Given the description of an element on the screen output the (x, y) to click on. 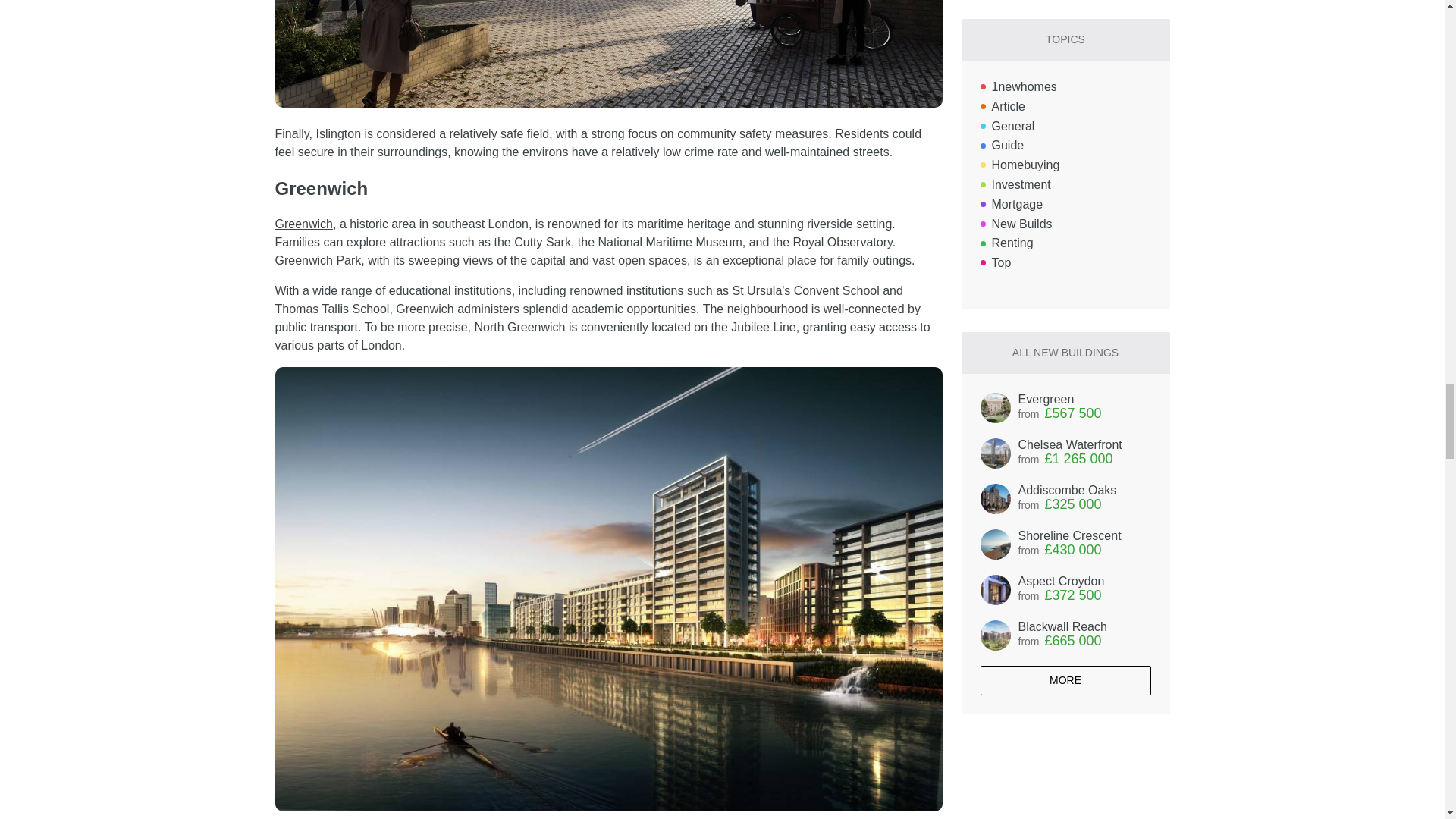
Greenwich (303, 223)
Greenwich Displays New Splendid Homes  (303, 223)
